Given the description of an element on the screen output the (x, y) to click on. 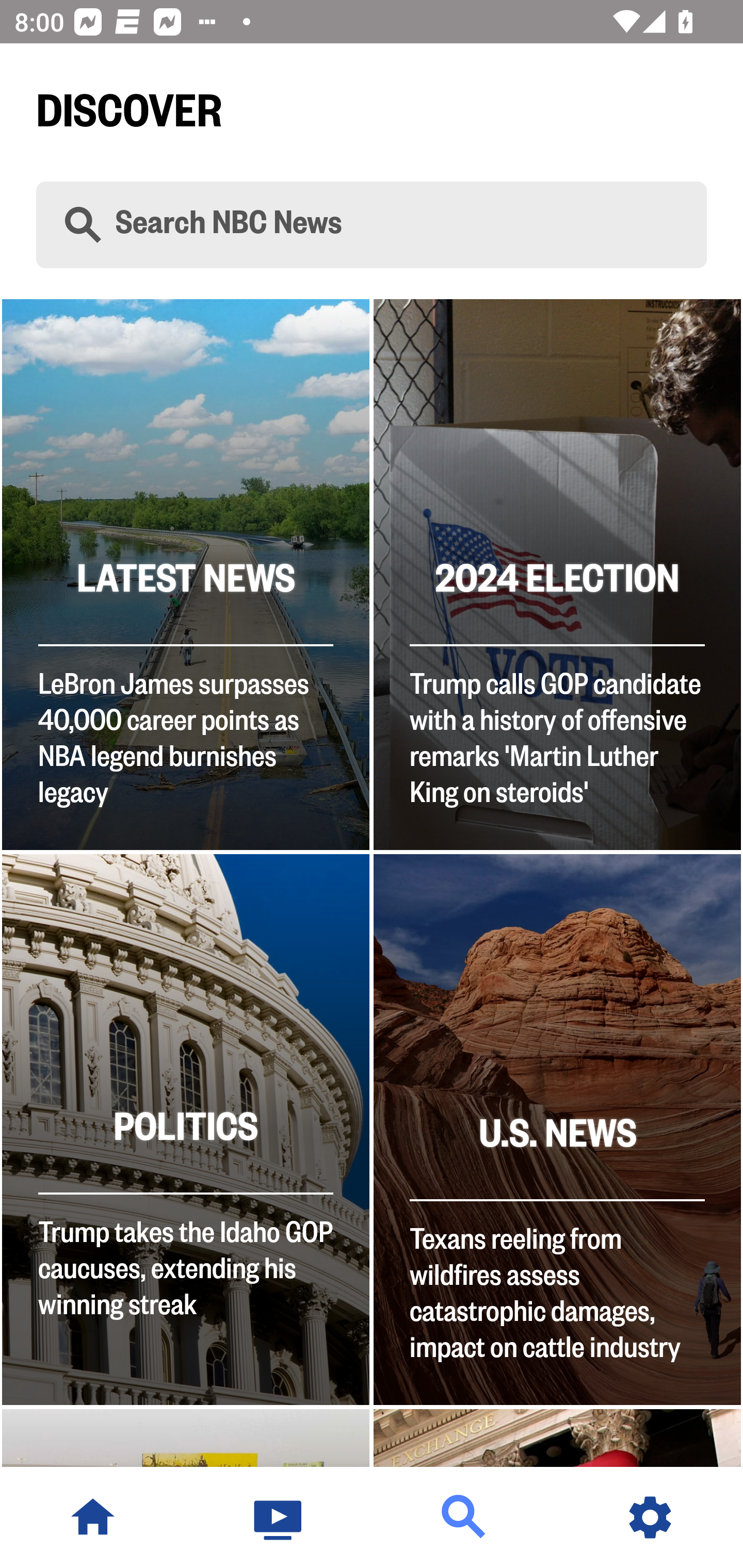
NBC News Home (92, 1517)
Watch (278, 1517)
Settings (650, 1517)
